Given the description of an element on the screen output the (x, y) to click on. 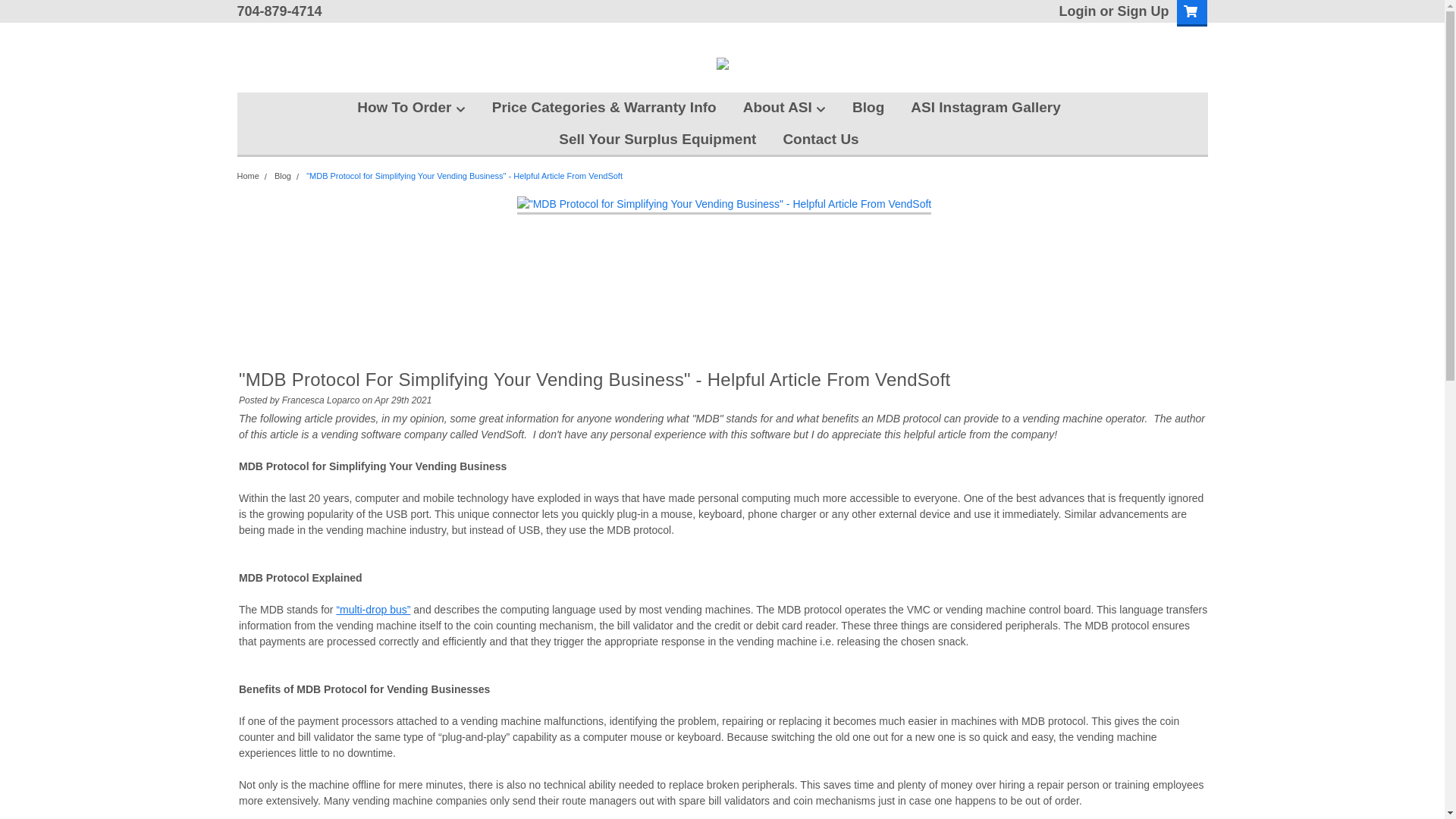
Sign Up (1141, 11)
Automated Services International, Inc (722, 63)
Login (1077, 11)
